Given the description of an element on the screen output the (x, y) to click on. 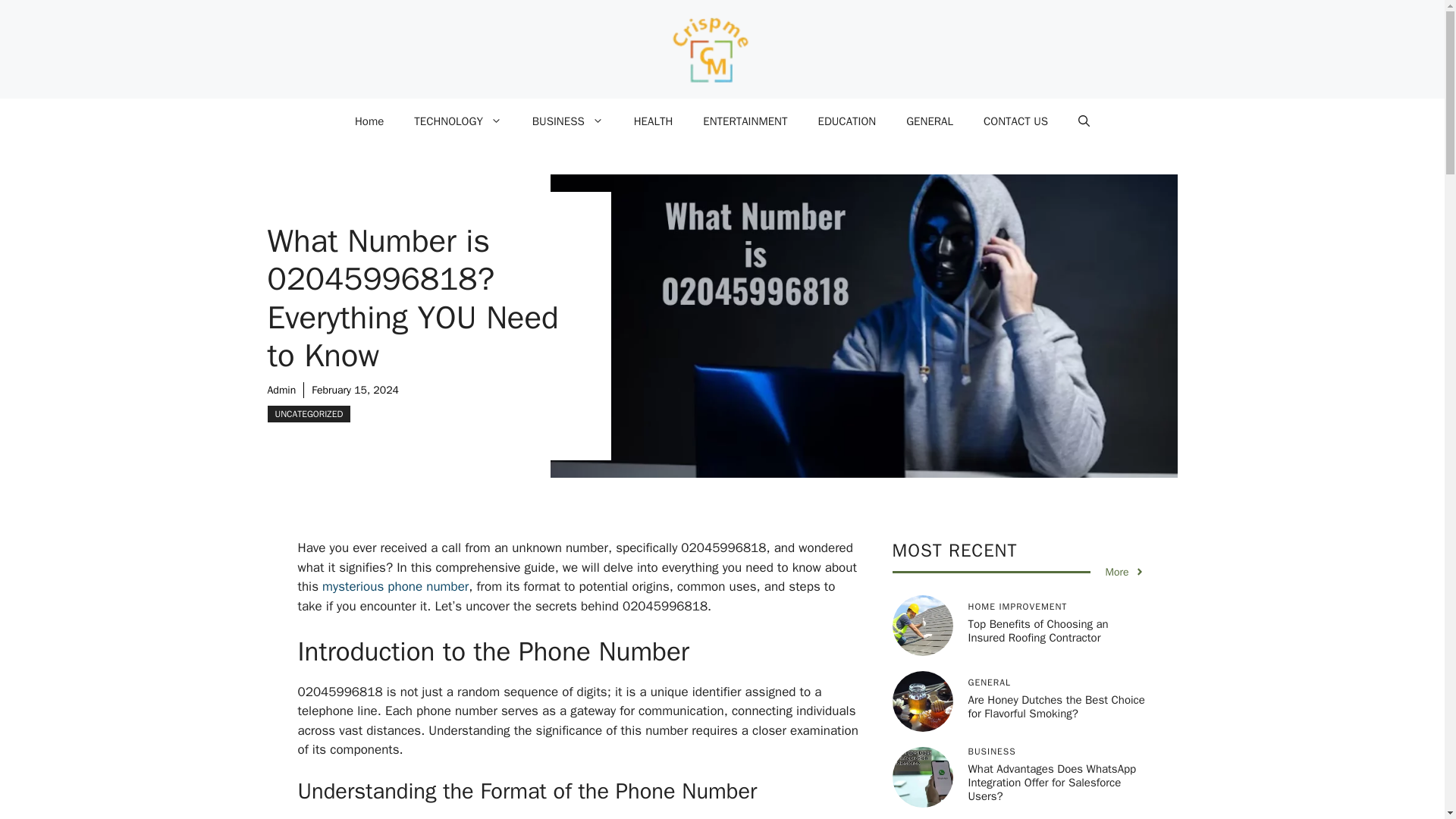
HEALTH (653, 121)
CONTACT US (1015, 121)
Home (368, 121)
GENERAL (929, 121)
More (1124, 571)
UNCATEGORIZED (308, 413)
EDUCATION (846, 121)
ENTERTAINMENT (744, 121)
Admin (280, 390)
TECHNOLOGY (457, 121)
BUSINESS (567, 121)
mysterious phone number (394, 586)
